Given the description of an element on the screen output the (x, y) to click on. 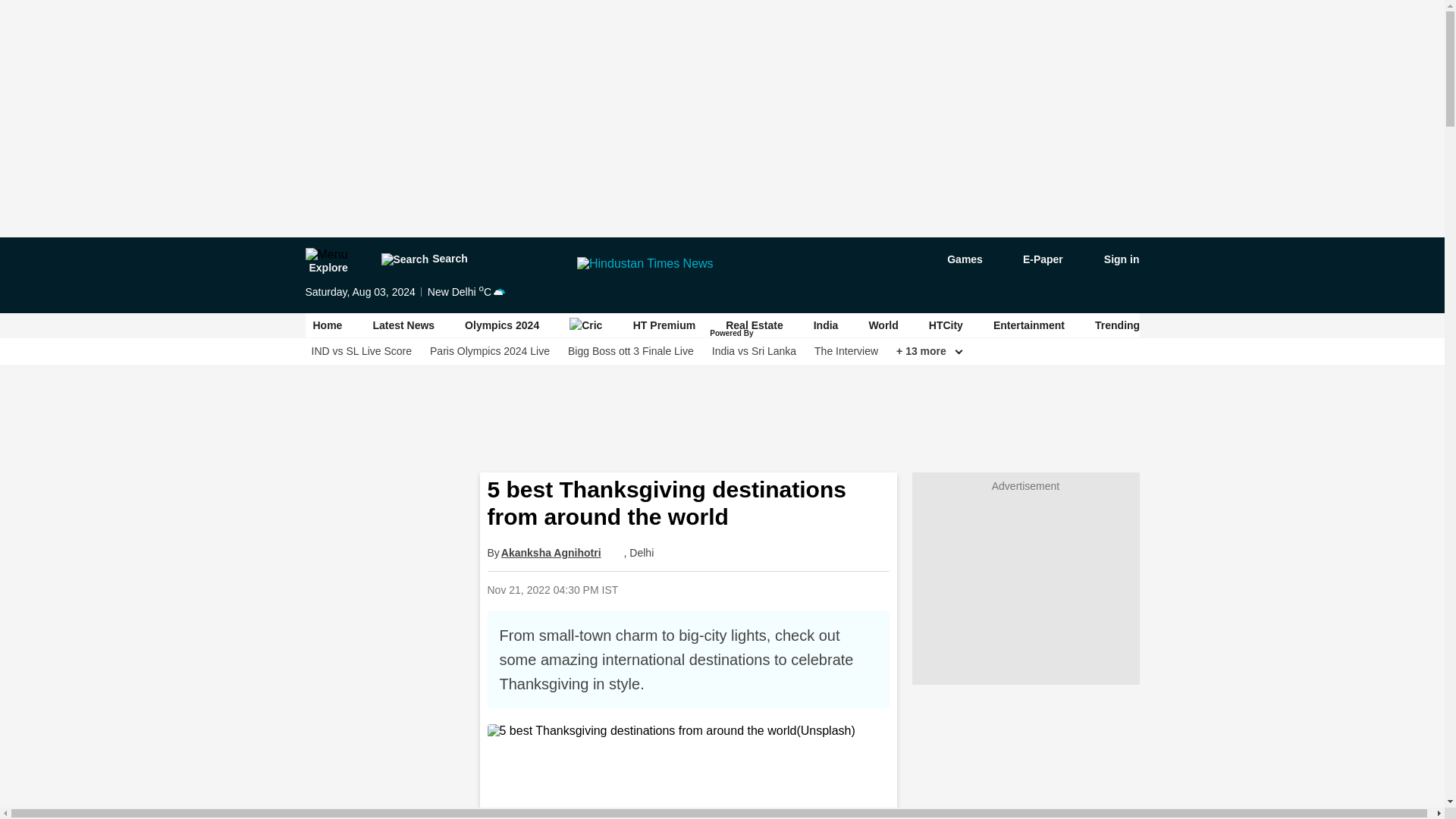
Olympics 2024 (501, 325)
Share on Facebook (710, 589)
HTCity (945, 325)
Latest News (402, 325)
The Interview (845, 350)
Education (1348, 325)
Share on Twitter (749, 589)
epaper (1034, 258)
India (825, 325)
IND vs SL Live Score (361, 350)
Astrology (1195, 325)
Search (423, 258)
Share on Linkdin (788, 589)
Trending (1117, 325)
Quick Reads (672, 589)
